Given the description of an element on the screen output the (x, y) to click on. 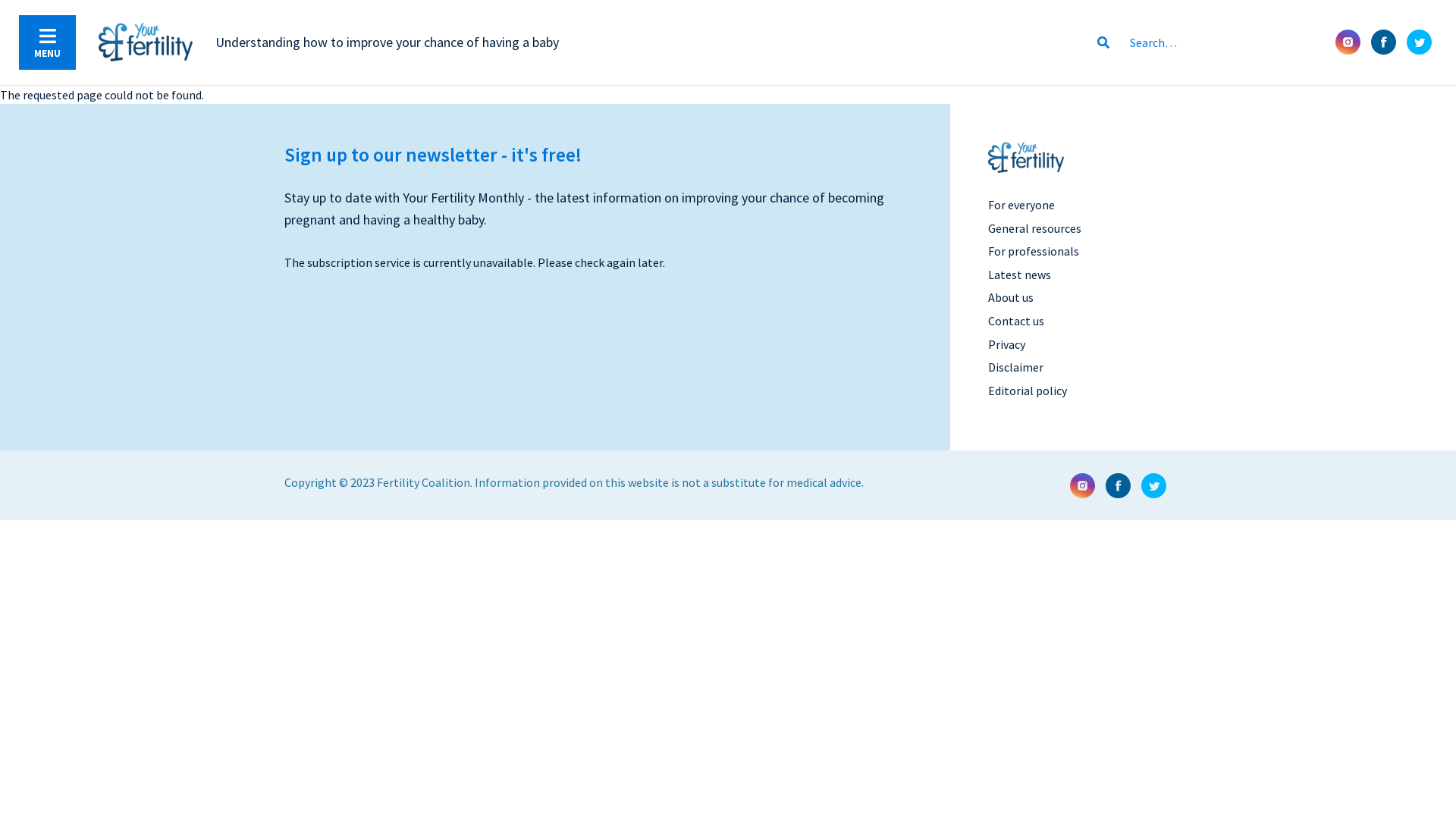
For everyone Element type: text (1020, 204)
Editorial policy Element type: text (1026, 390)
Disclaimer Element type: text (1014, 366)
Privacy Element type: text (1005, 343)
About us Element type: text (1009, 296)
For professionals Element type: text (1032, 250)
Search Element type: hover (1212, 41)
MENU Element type: text (46, 42)
Skip to main content Element type: text (0, 0)
General resources Element type: text (1033, 227)
Latest news Element type: text (1018, 274)
Submit Element type: text (1103, 41)
Contact us Element type: text (1015, 320)
